Given the description of an element on the screen output the (x, y) to click on. 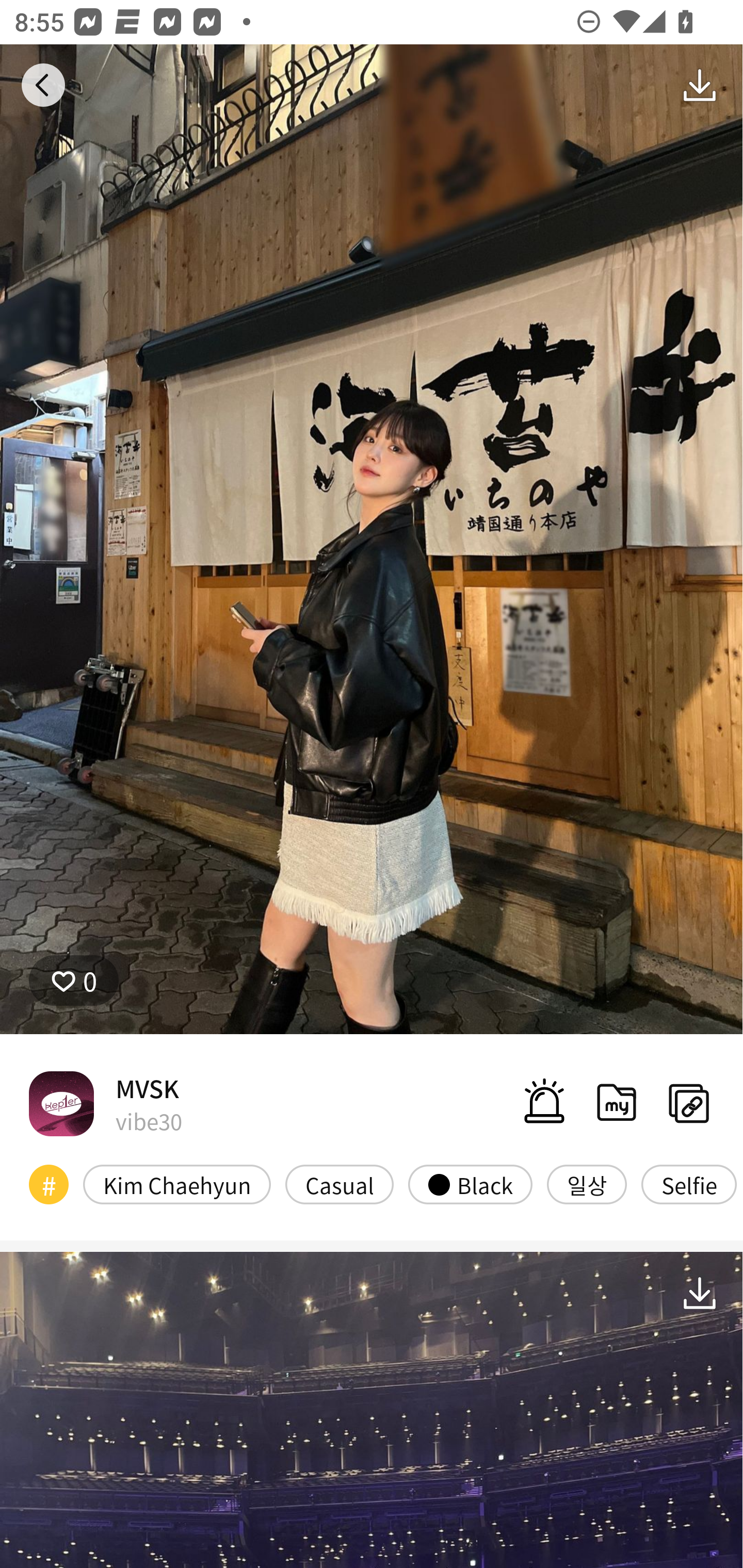
0 (73, 980)
MVSK vibe30 (105, 1102)
Kim Chaehyun (177, 1184)
Casual (339, 1184)
Black (469, 1184)
일상 (586, 1184)
Selfie (689, 1184)
